Given the description of an element on the screen output the (x, y) to click on. 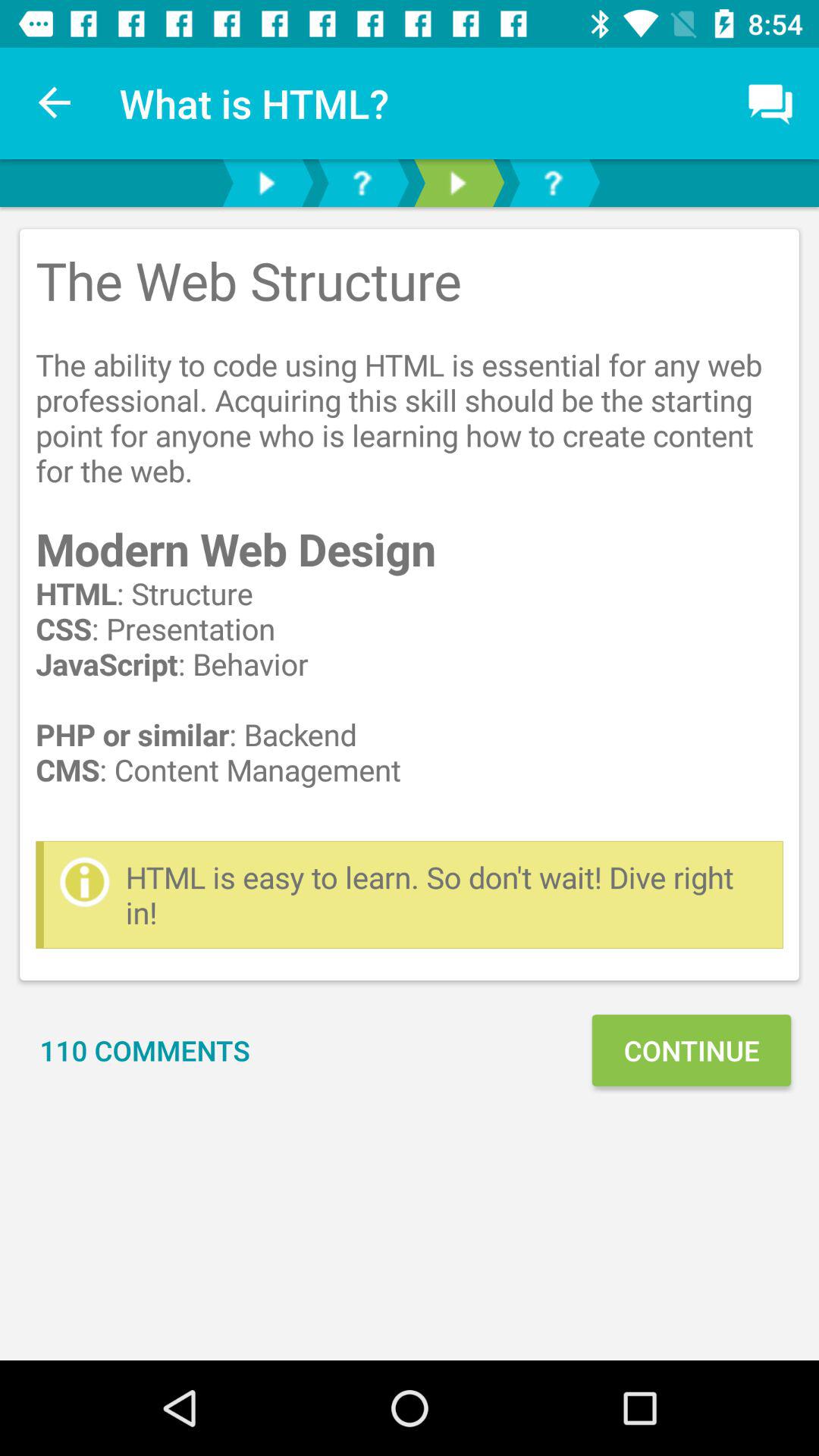
select the item next to what is html? item (55, 103)
